Given the description of an element on the screen output the (x, y) to click on. 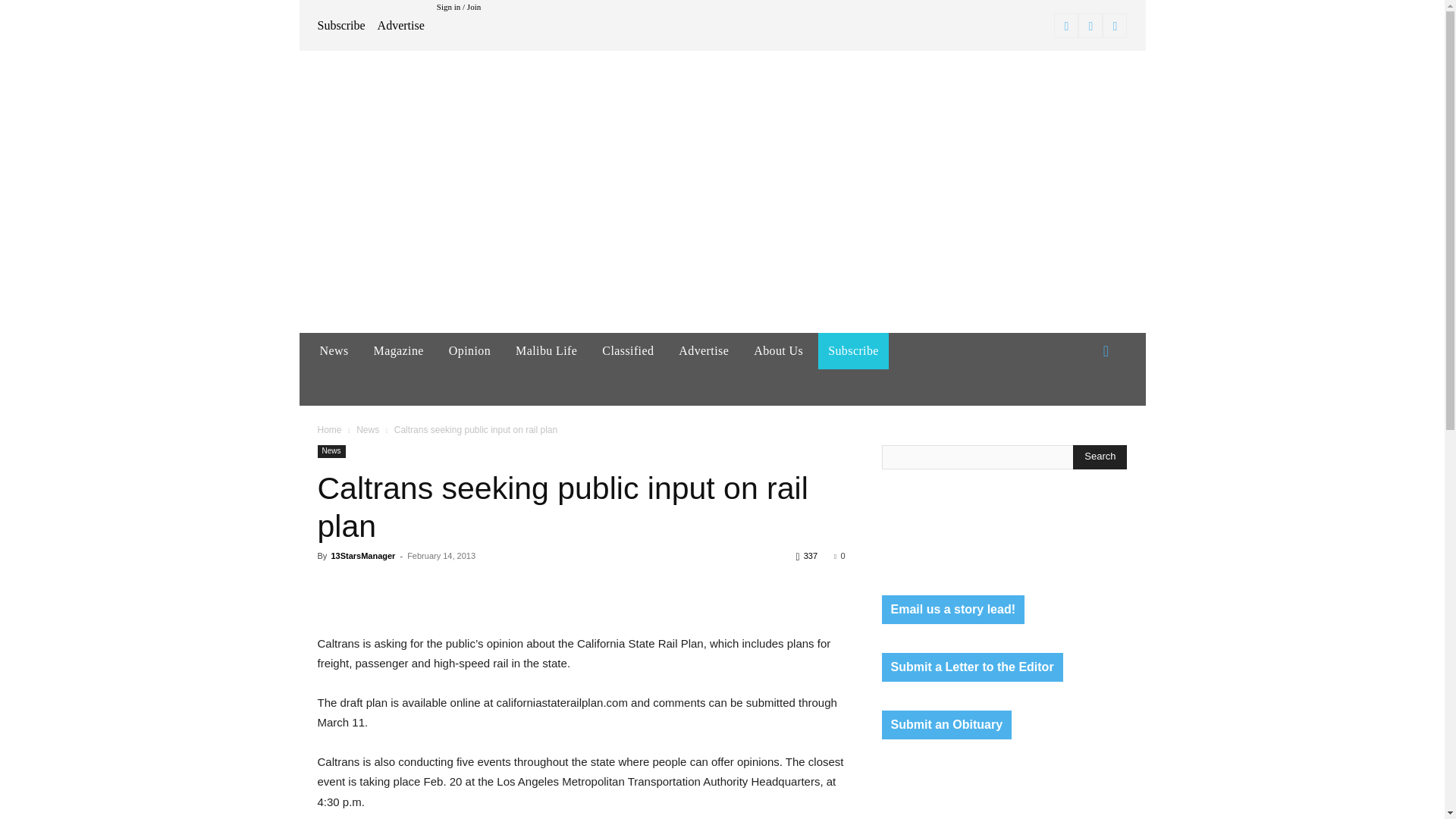
Facebook (1066, 25)
Twitter (1114, 25)
Search (1099, 457)
View all posts in News (367, 429)
Instagram (1090, 25)
